Given the description of an element on the screen output the (x, y) to click on. 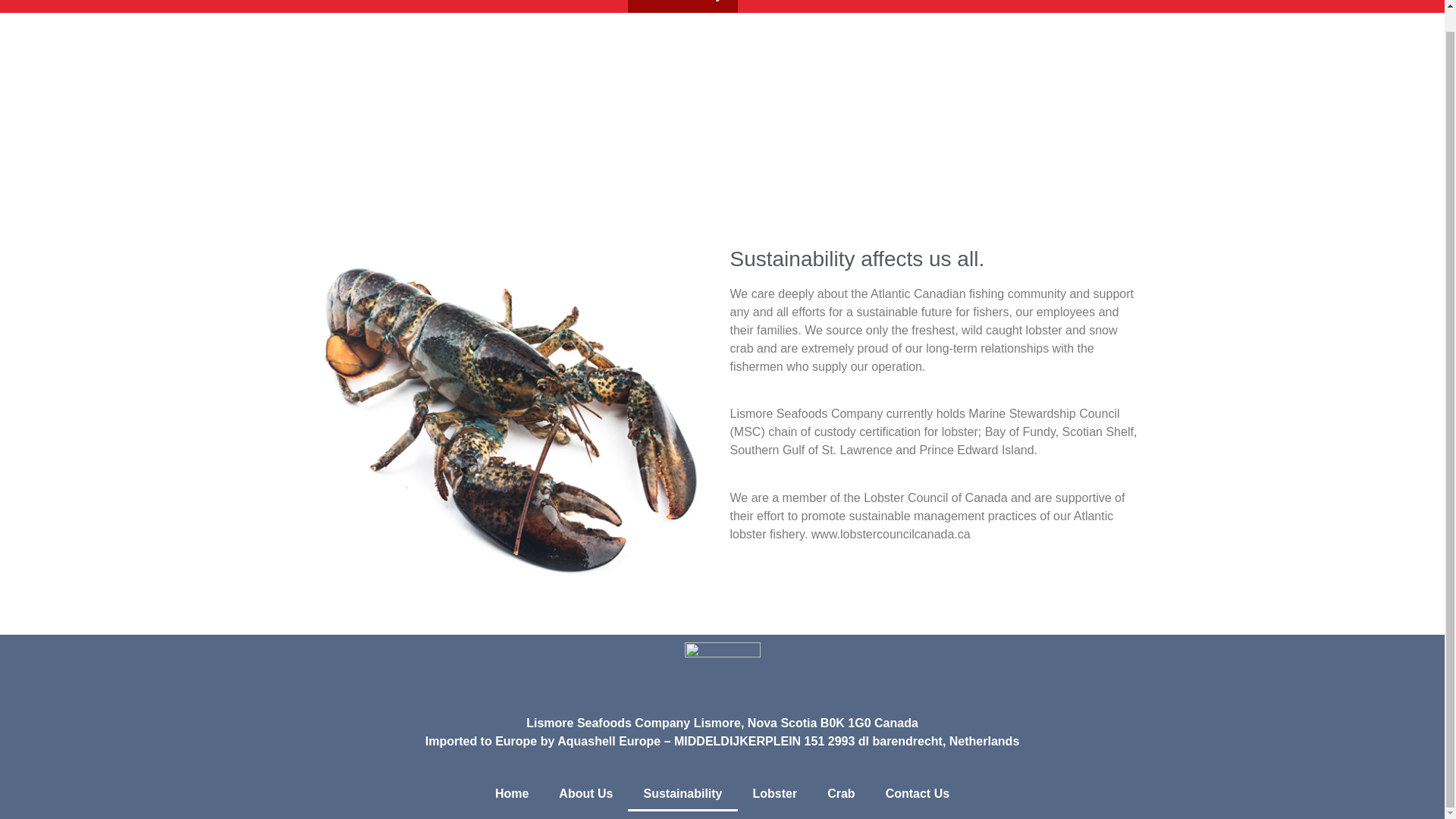
Lobster (774, 6)
About Us (585, 793)
Home (511, 793)
Contact Us (916, 6)
About Us (585, 6)
Sustainability (681, 793)
Lobster (774, 793)
Crab (840, 793)
Crab (840, 6)
Home (511, 6)
Sustainability (681, 6)
